Given the description of an element on the screen output the (x, y) to click on. 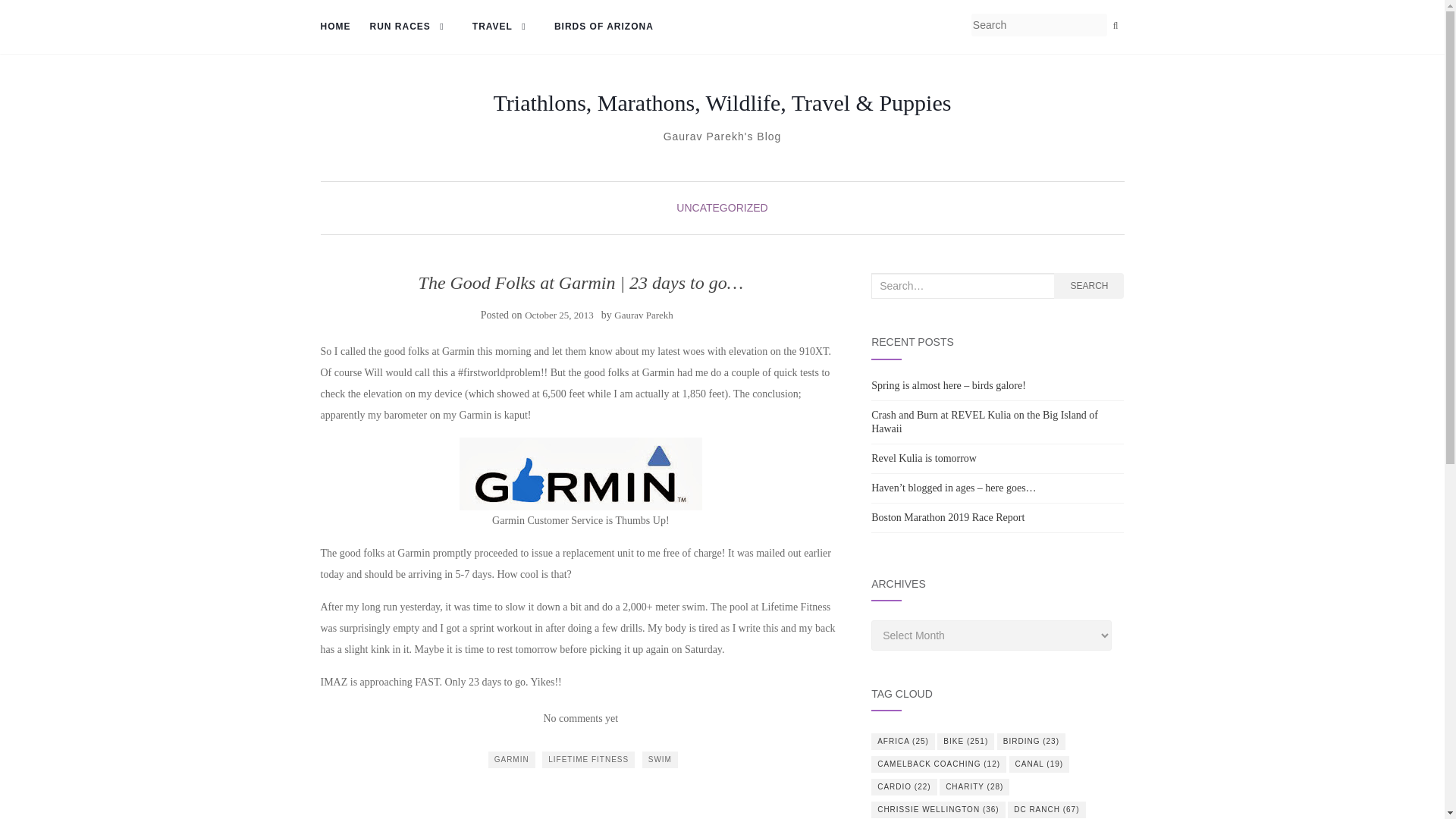
Travel (503, 27)
RUN RACES (410, 27)
Birds of Arizona (603, 27)
Revel Kulia is tomorrow (923, 458)
LIFETIME FITNESS (587, 759)
SEARCH (1089, 285)
BIRDS OF ARIZONA (603, 27)
GARMIN (511, 759)
Gaurav Parekh (643, 315)
TRAVEL (503, 27)
SWIM (660, 759)
No comments yet (580, 717)
Search for: (962, 285)
Boston Marathon 2019 Race Report (947, 517)
October 25, 2013 (559, 315)
